Given the description of an element on the screen output the (x, y) to click on. 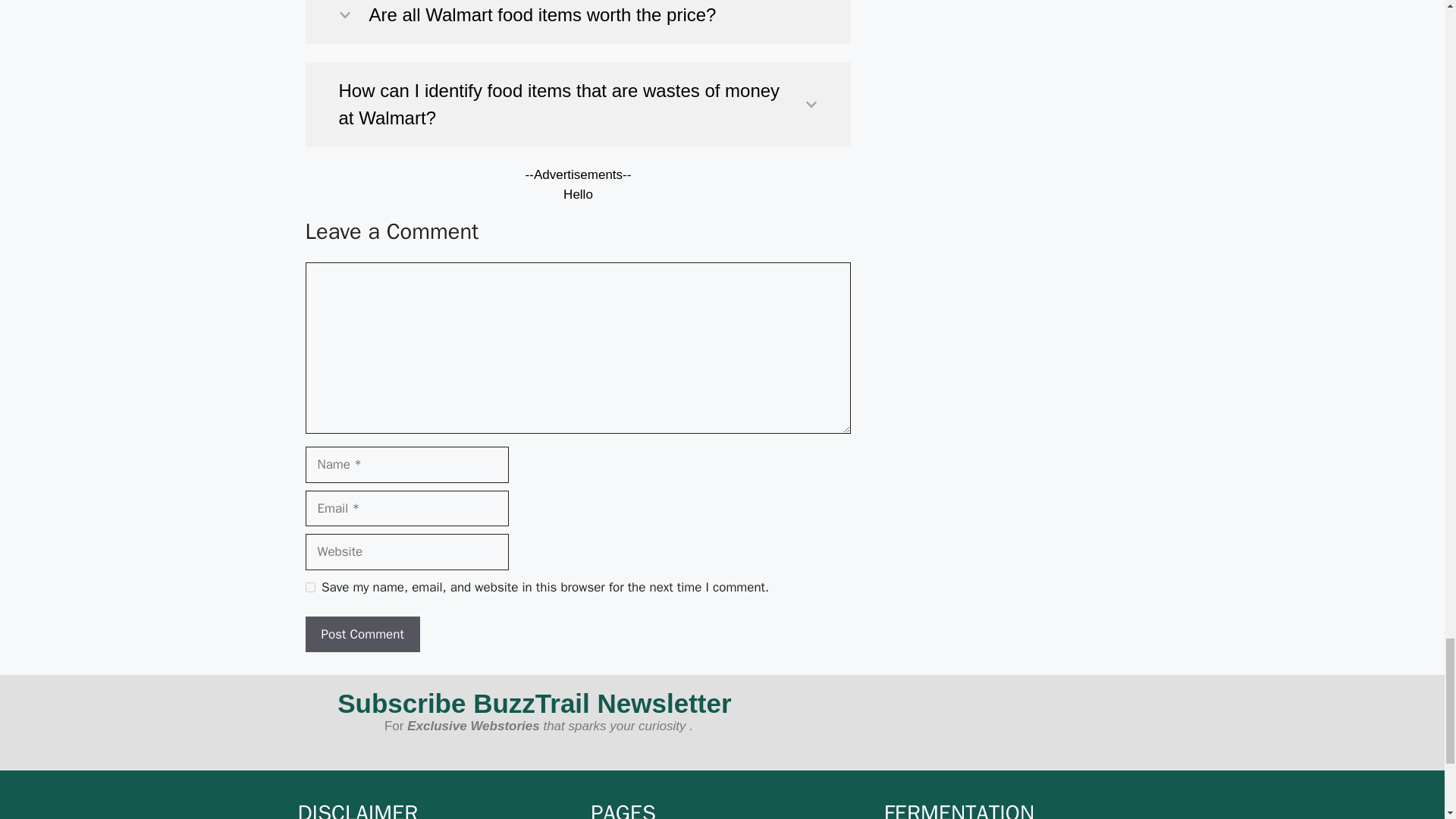
yes (309, 587)
Post Comment (361, 634)
Post Comment (361, 634)
